Given the description of an element on the screen output the (x, y) to click on. 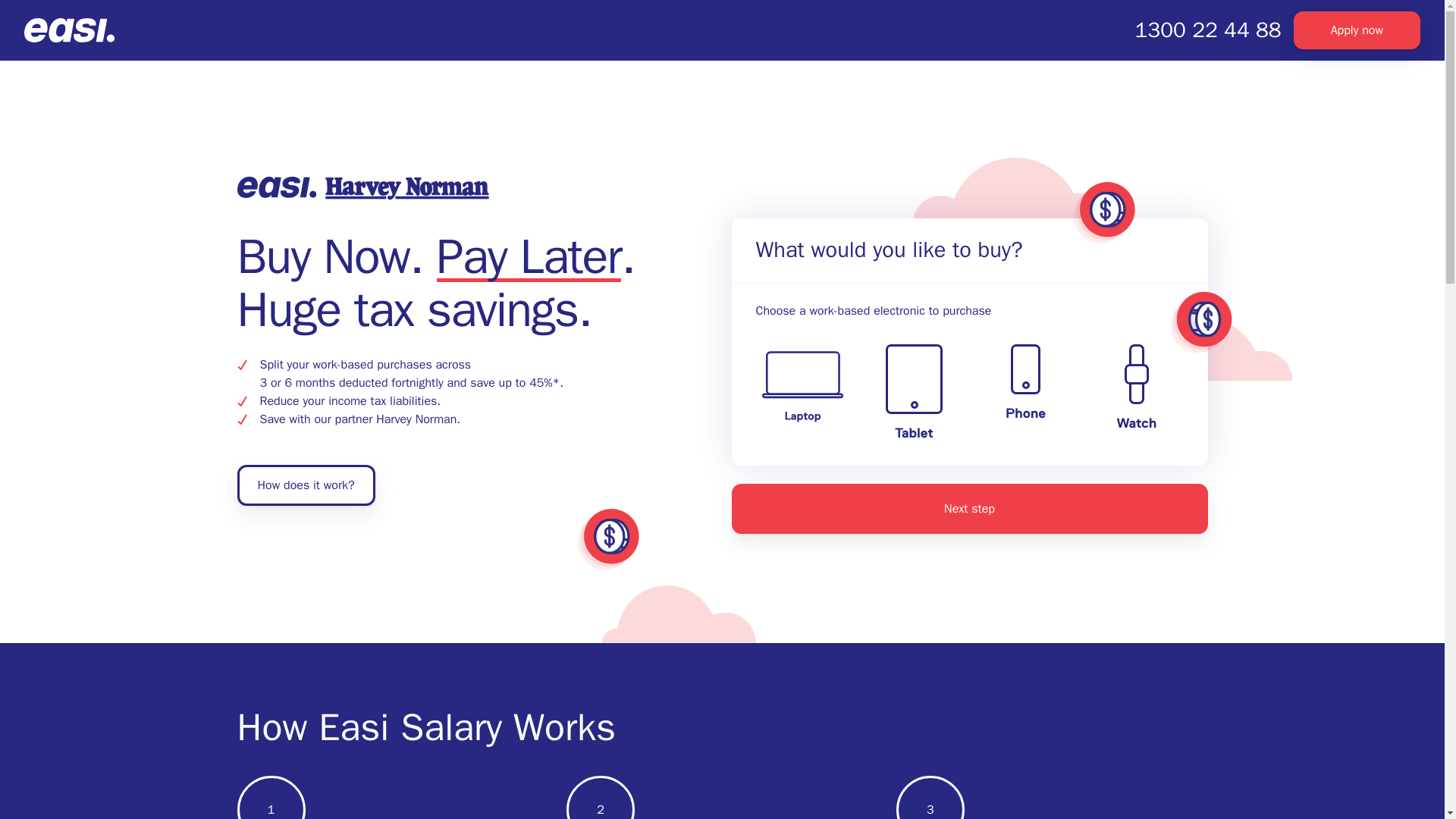
Next step (968, 508)
Apply now (1357, 30)
1300 22 44 88 (1208, 29)
How does it work? (304, 485)
How does it work? (304, 485)
